Given the description of an element on the screen output the (x, y) to click on. 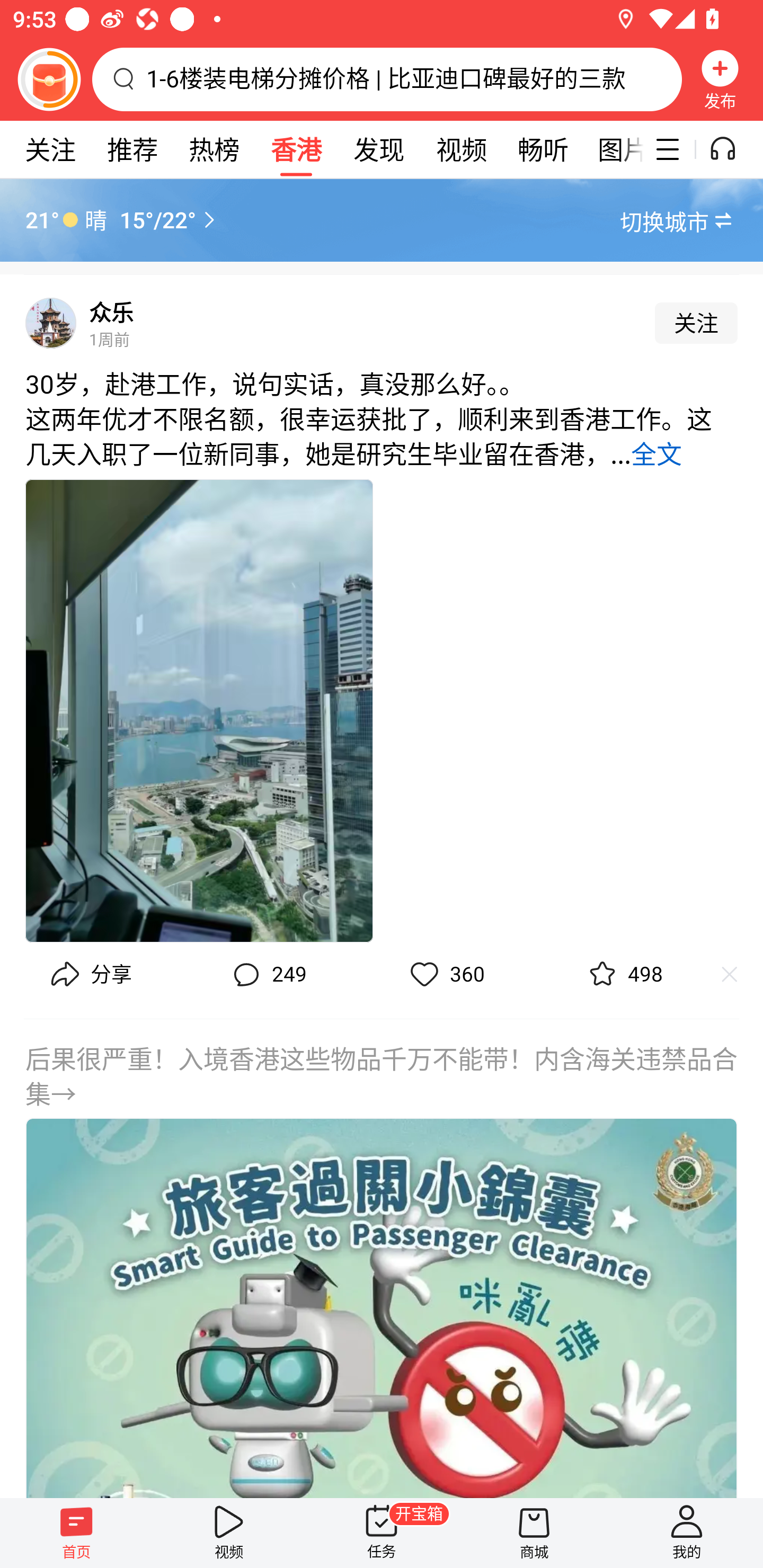
阅读赚金币 (48, 79)
发布 发布，按钮 (720, 78)
关注 (50, 149)
推荐 (132, 149)
热榜 (213, 149)
香港 (295, 149)
发现 (378, 149)
视频 (461, 149)
畅听 (542, 149)
听一听开关 (732, 149)
众乐头像 众乐,,,,1周前 众乐 1周前 关注 关注 (381, 317)
众乐 (111, 312)
众乐头像 (50, 322)
关注 (695, 322)
分享 (88, 975)
评论,249 249 (266, 975)
收藏,498 498 (622, 975)
后果很严重！入境香港这些物品千万不能带！内含海关违禁品合集→ (381, 1258)
首页 (76, 1532)
视频 (228, 1532)
任务 开宝箱 (381, 1532)
商城 (533, 1532)
我的 (686, 1532)
